Given the description of an element on the screen output the (x, y) to click on. 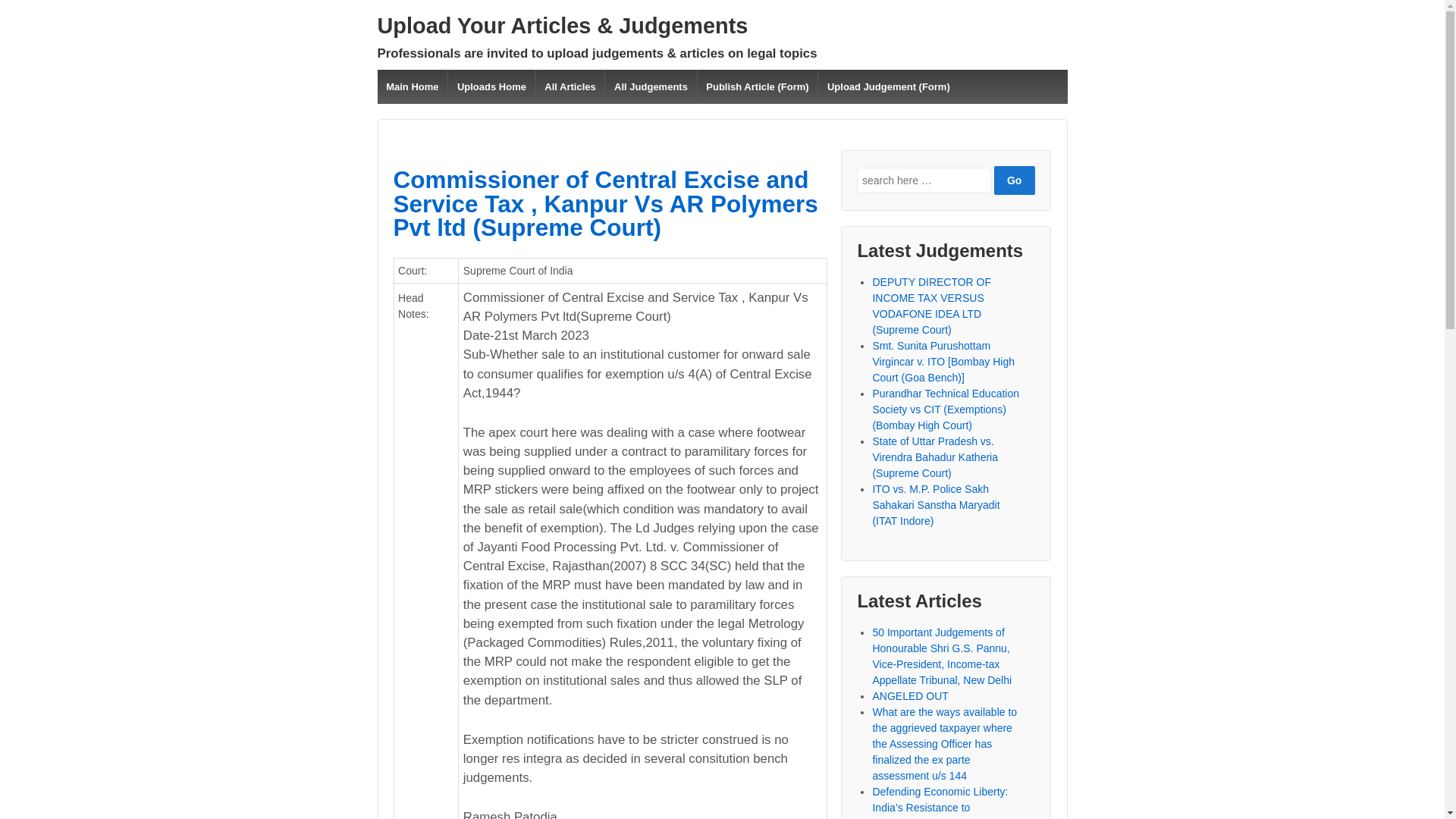
Uploads Home (490, 86)
All Articles (570, 86)
Go (1014, 180)
ANGELED OUT (909, 695)
Go (1014, 180)
Main Home (412, 86)
All Judgements (649, 86)
